Given the description of an element on the screen output the (x, y) to click on. 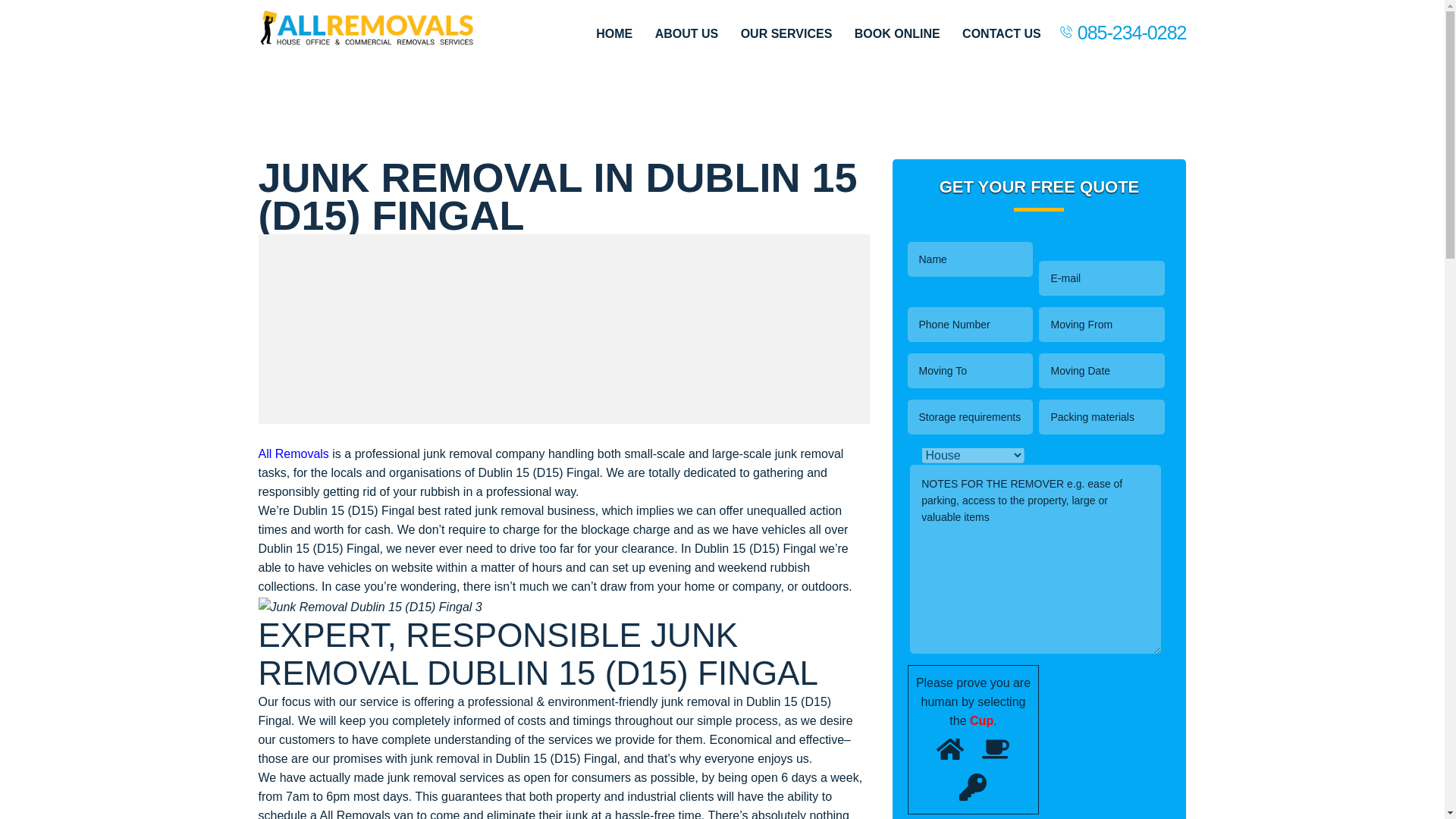
OUR SERVICES (786, 33)
CONTACT US (1001, 33)
HOME (613, 33)
All Removals (293, 453)
BOOK ONLINE (897, 33)
ABOUT US (687, 33)
085-234-0282 (1131, 32)
